Given the description of an element on the screen output the (x, y) to click on. 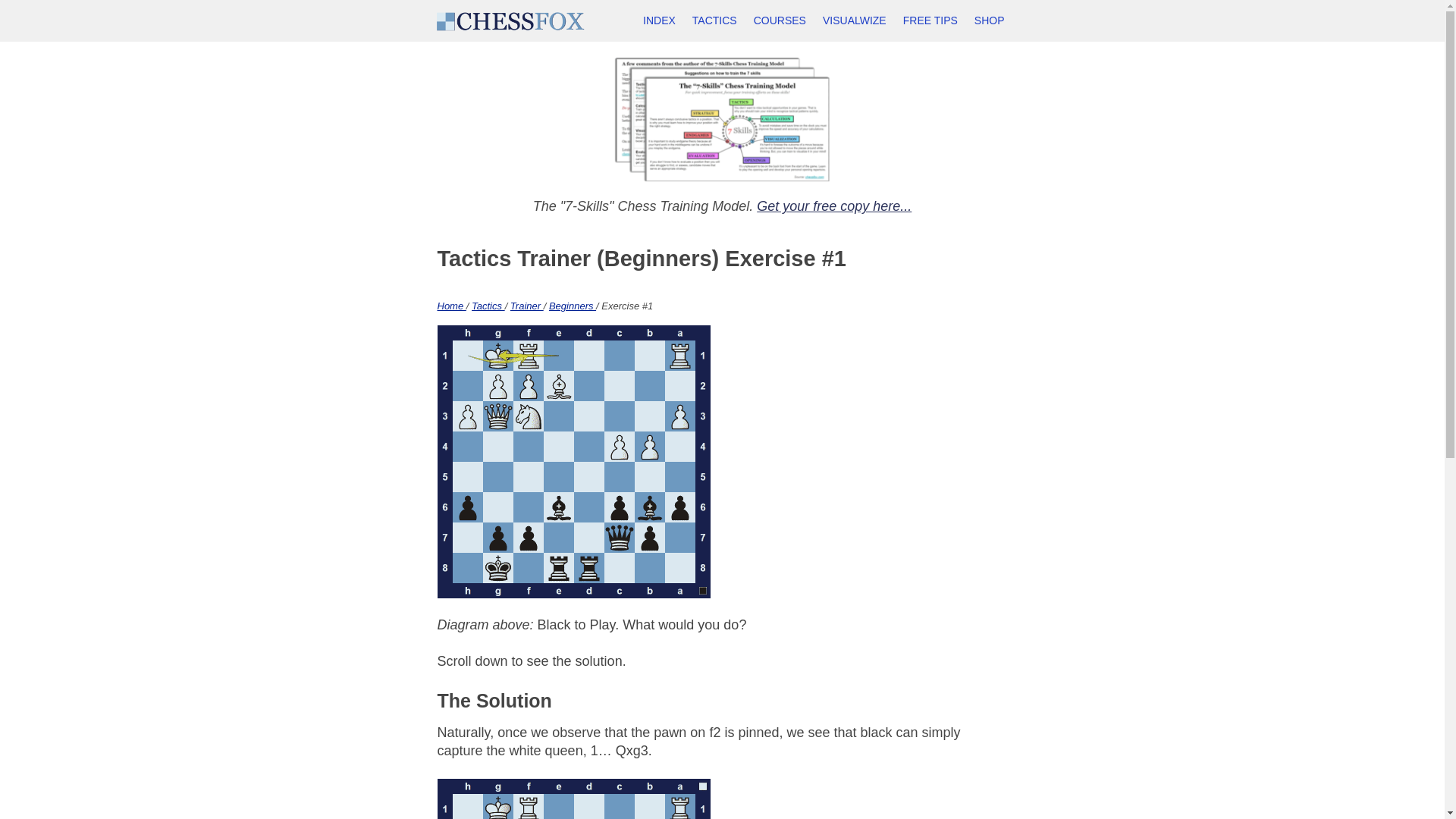
Visualization training exercises (854, 20)
TACTICS (714, 20)
Chess Tactics (714, 20)
INDEX (659, 20)
Chess Training Products by Chessfox (989, 20)
List of chess training resources on chessfox.com (659, 20)
FREE TIPS (930, 20)
VISUALWIZE (854, 20)
COURSES (779, 20)
CHESSFOX.COM (509, 20)
